Given the description of an element on the screen output the (x, y) to click on. 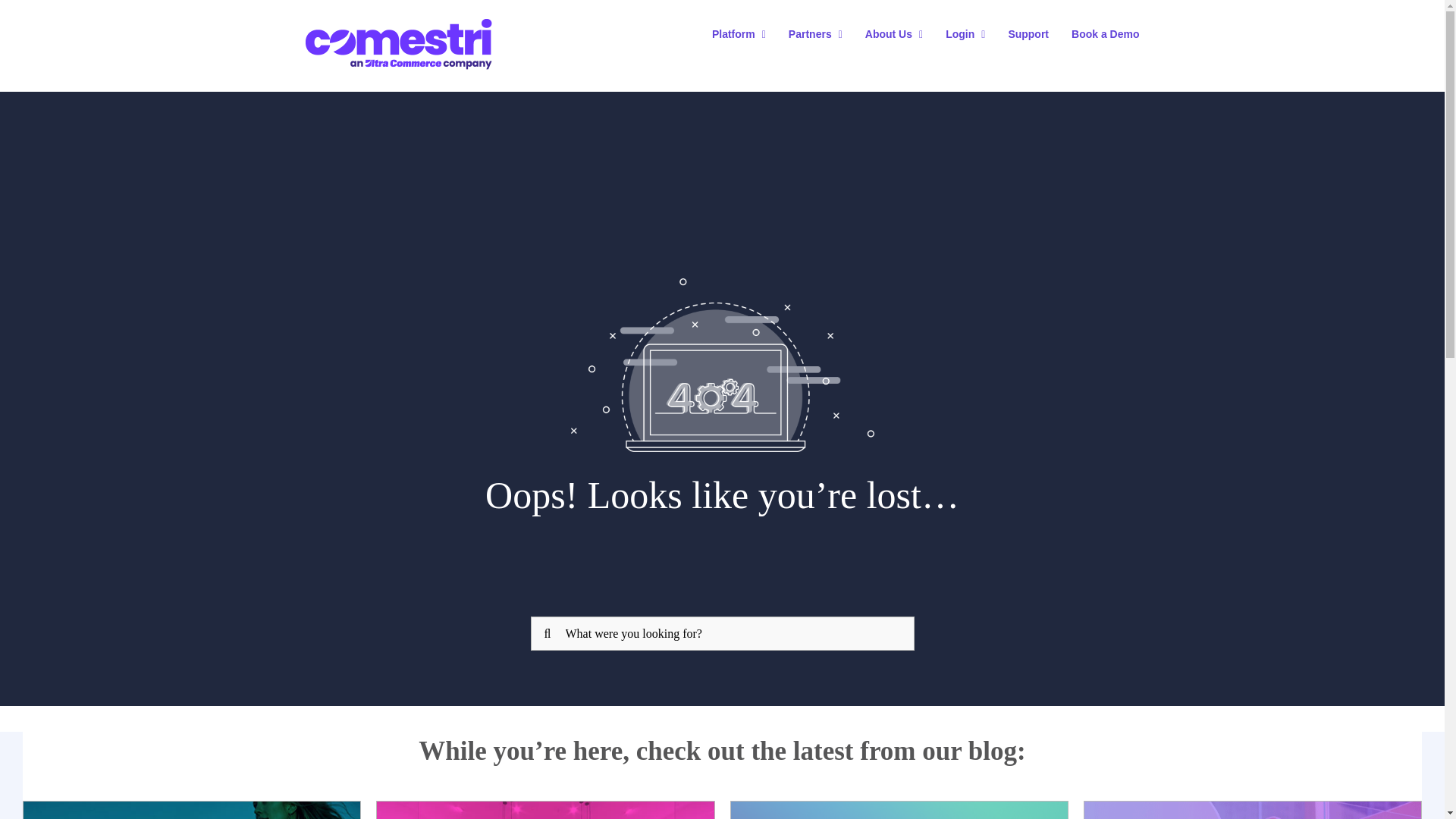
404-Illustration (721, 365)
Partners (816, 33)
About (893, 33)
Platform (738, 33)
Book a Demo (1104, 33)
About Us (893, 33)
Platform (738, 33)
Partners (816, 33)
